Given the description of an element on the screen output the (x, y) to click on. 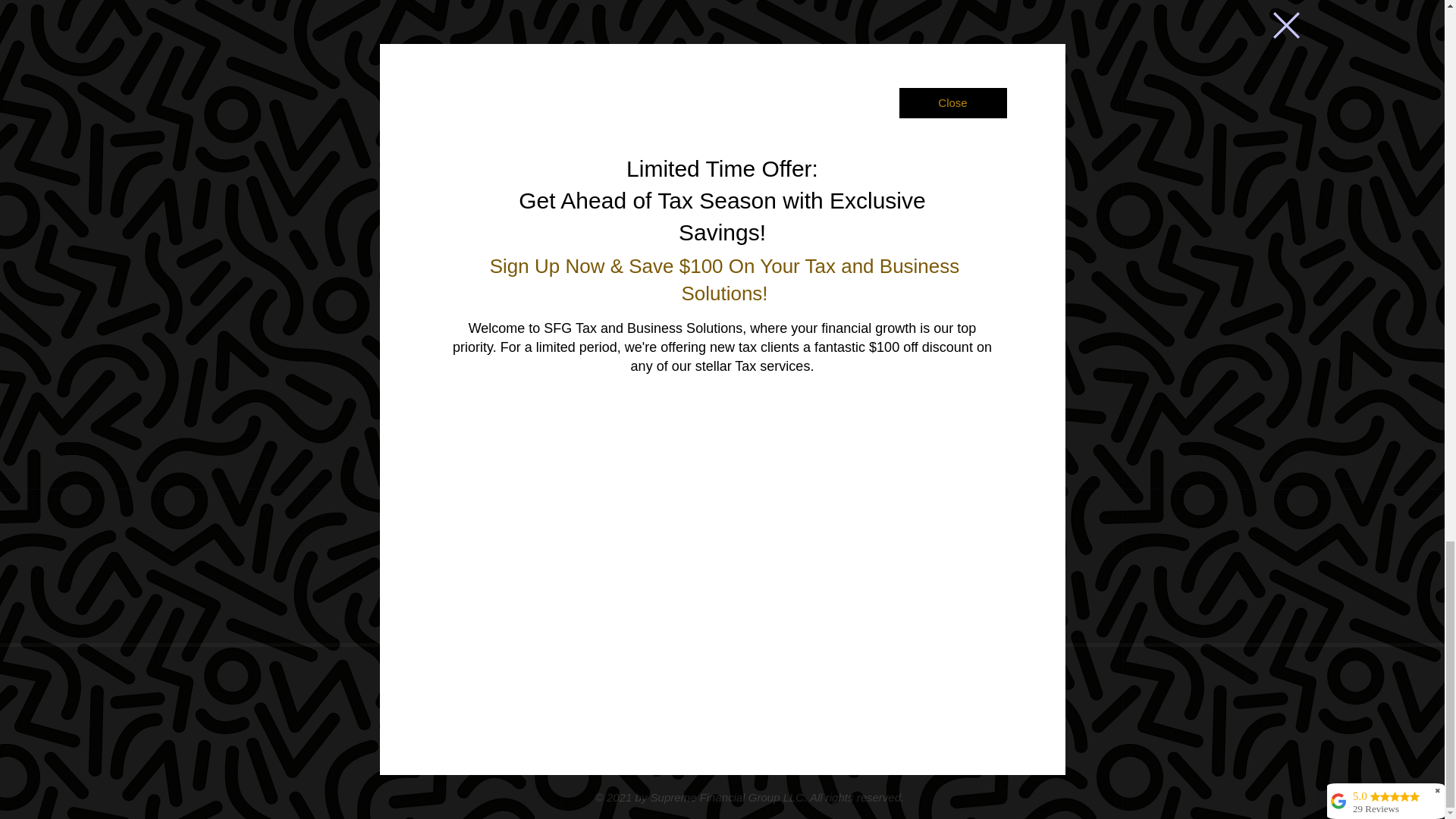
Business Solutions Services (817, 682)
Home (487, 682)
Tax Services (656, 682)
About (560, 682)
BOOK A CALL (936, 732)
